Given the description of an element on the screen output the (x, y) to click on. 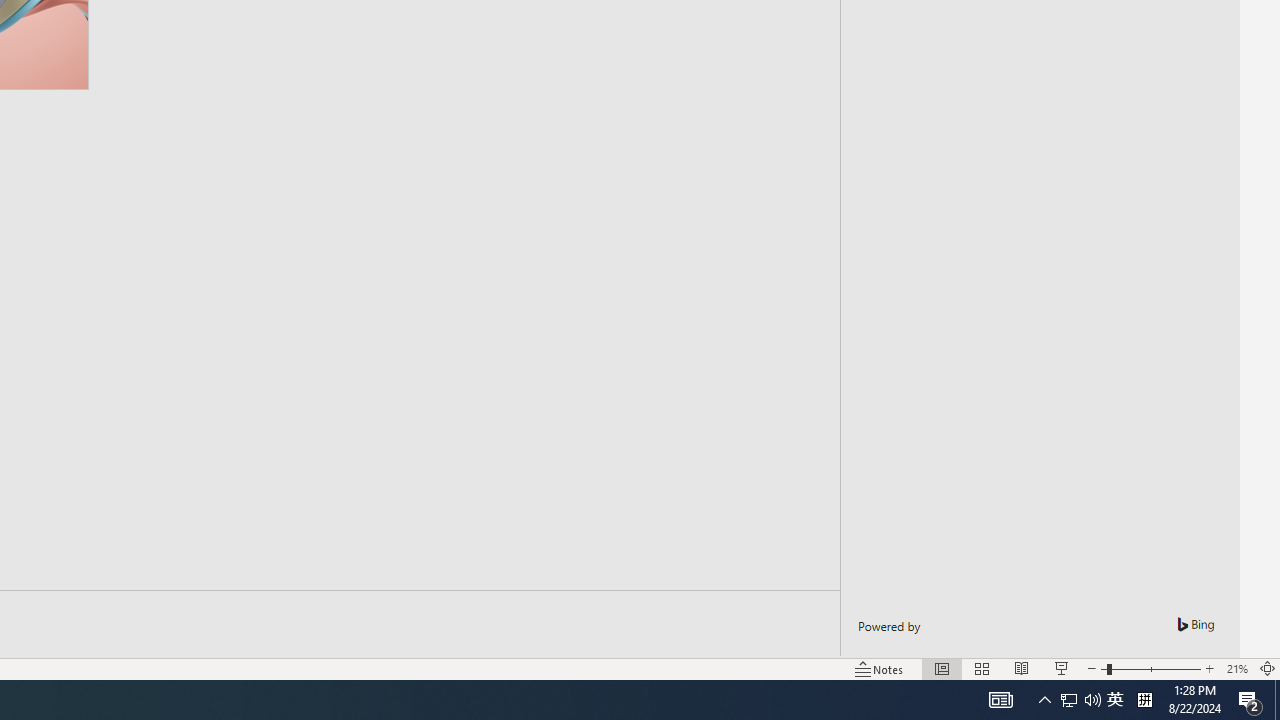
Zoom 21% (1236, 668)
